Given the description of an element on the screen output the (x, y) to click on. 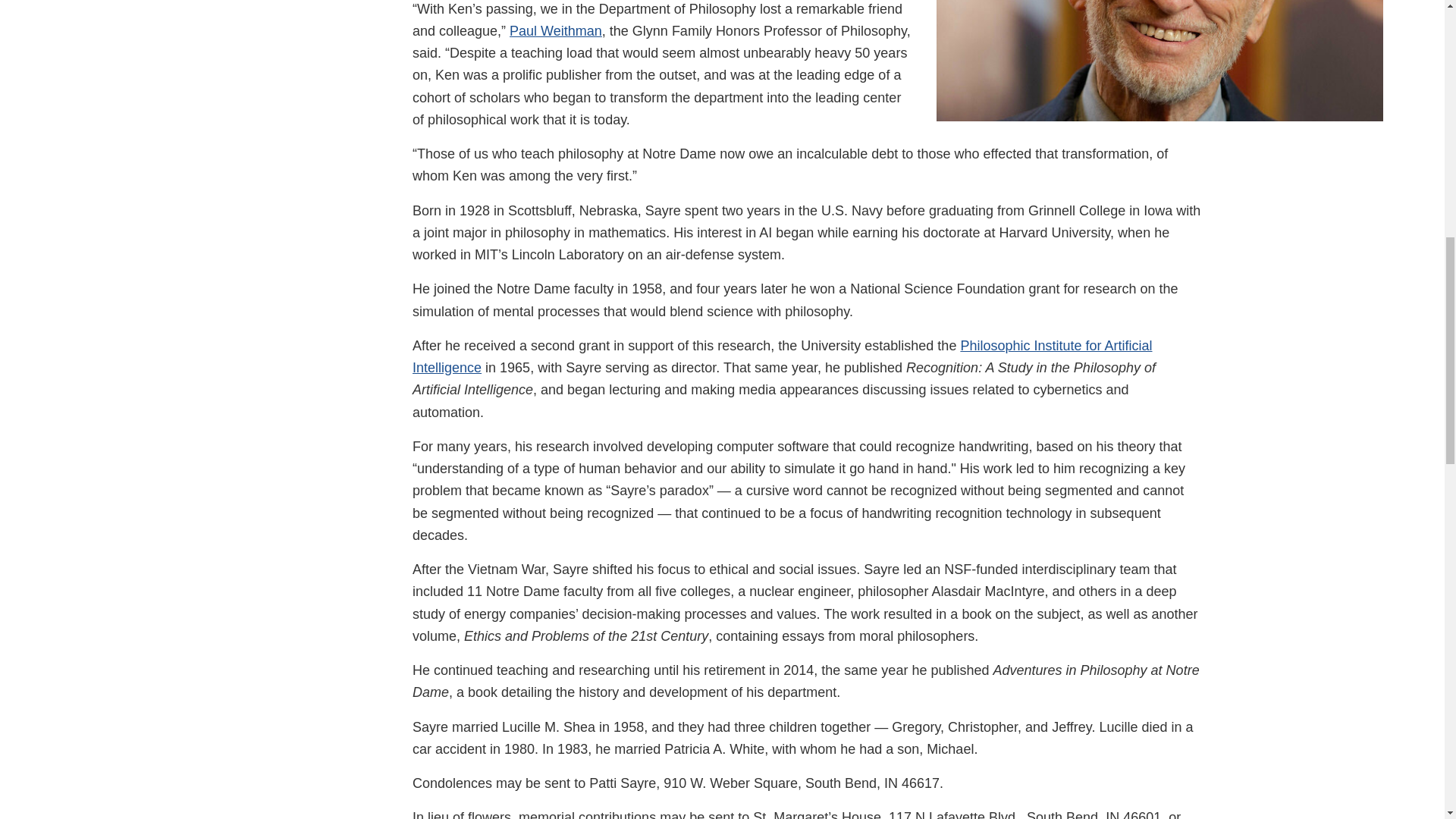
Paul Weithman (555, 30)
Philosophic Institute for Artificial Intelligence (782, 356)
